Given the description of an element on the screen output the (x, y) to click on. 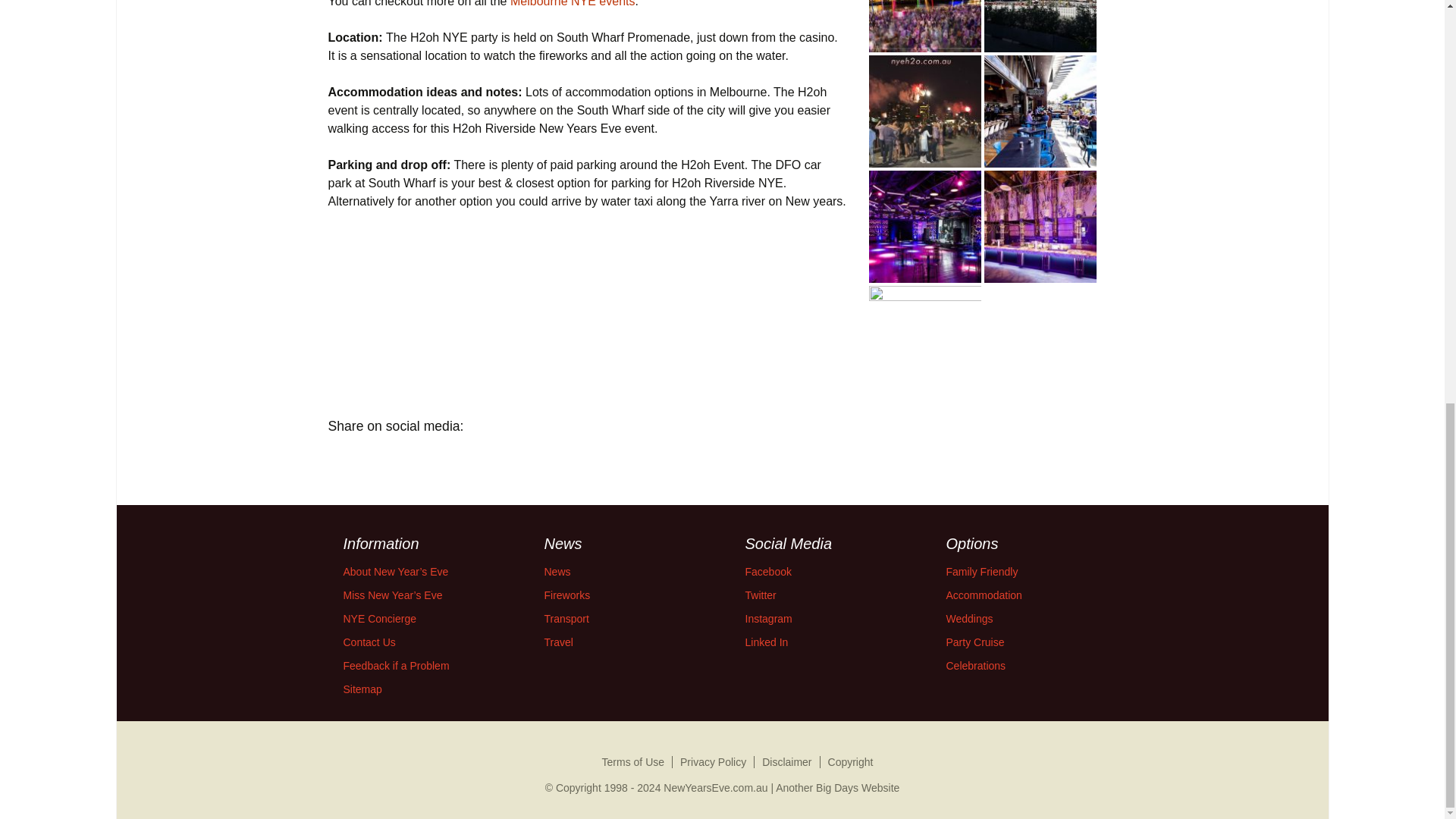
Big Days (837, 787)
New Years Eve Melbourne (572, 3)
Fireworks (567, 594)
Feedback if a Problem (395, 665)
NYE Concierge (379, 618)
Facebook (767, 571)
Sitemap (361, 689)
Melbourne NYE events (572, 3)
Share on Facebook (344, 461)
Share on Linkedin (428, 461)
Transport (566, 618)
Share on Twitter (386, 461)
News (557, 571)
Contact Us (368, 642)
Travel (558, 642)
